Given the description of an element on the screen output the (x, y) to click on. 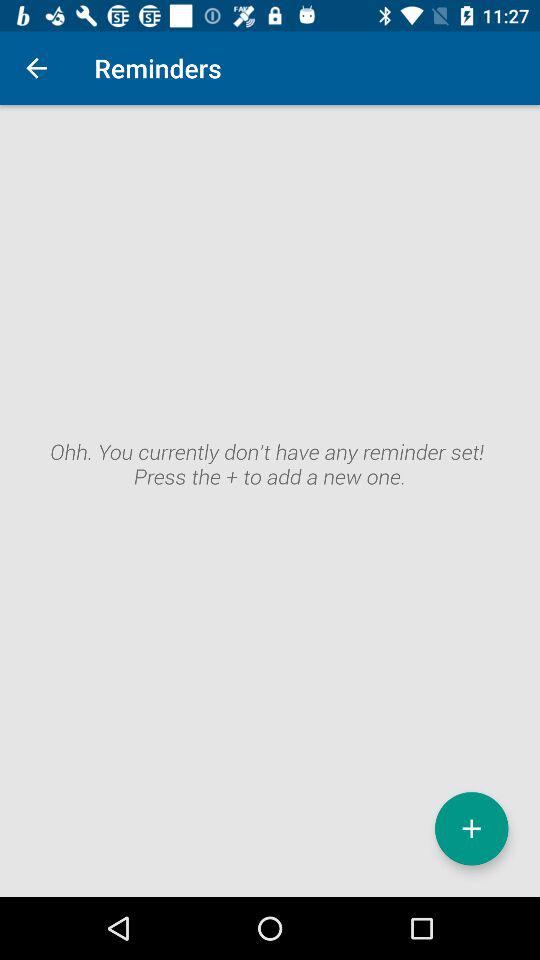
black reminder in page (270, 501)
